Given the description of an element on the screen output the (x, y) to click on. 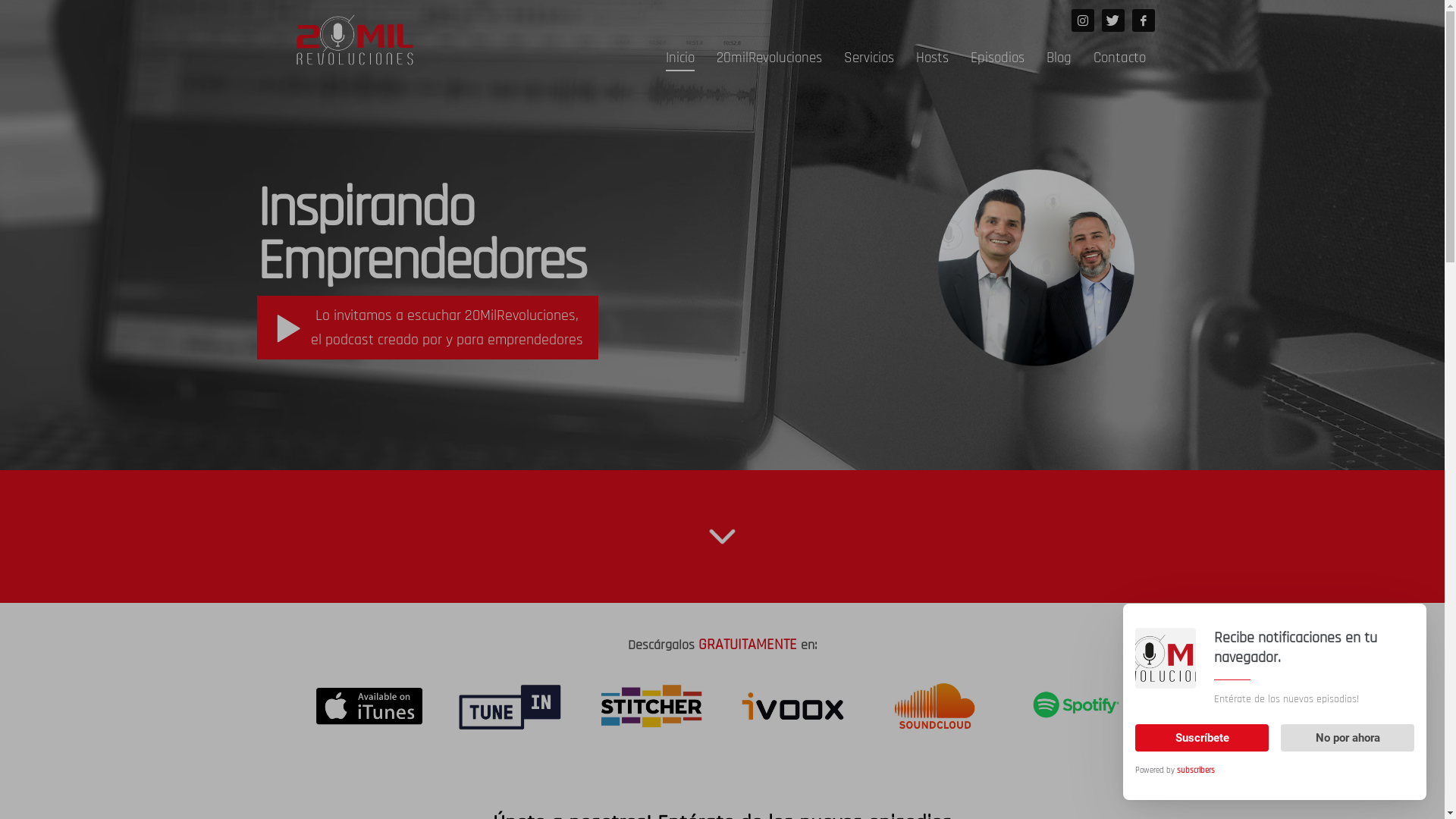
FBK Element type: hover (1142, 20)
Contacto Element type: text (1119, 58)
Podcast para emprendedores Element type: hover (353, 39)
20milRevoluciones Element type: text (769, 58)
Hosts Element type: text (931, 58)
Episodios Element type: text (997, 58)
Servicios Element type: text (868, 58)
Inicio Element type: text (679, 58)
INST Element type: hover (1081, 20)
TWT Element type: hover (1112, 20)
subscribers Element type: text (1195, 770)
No por ahora Element type: text (1347, 737)
Blog Element type: text (1058, 58)
